Given the description of an element on the screen output the (x, y) to click on. 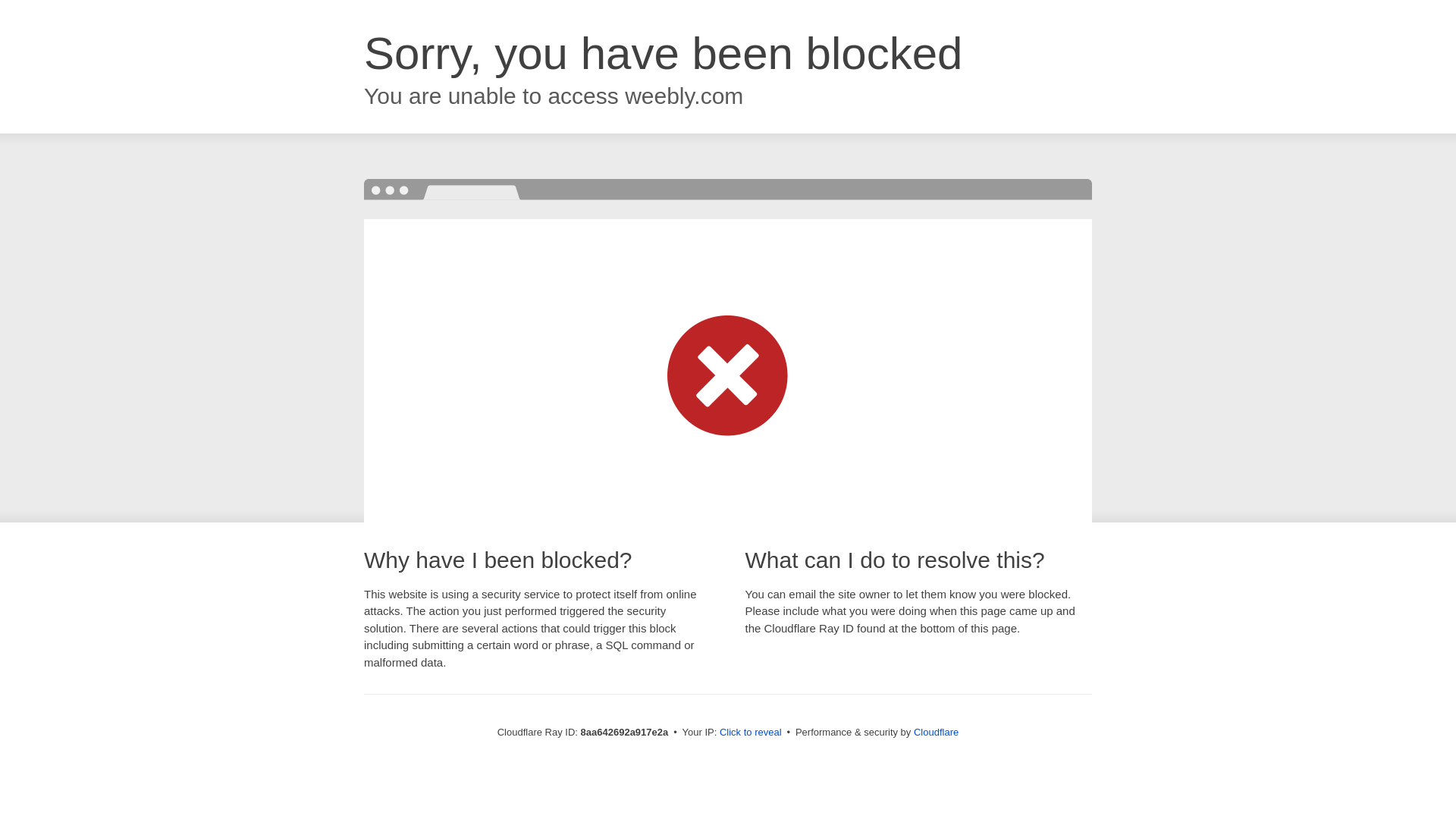
Cloudflare (936, 731)
Click to reveal (750, 732)
